Given the description of an element on the screen output the (x, y) to click on. 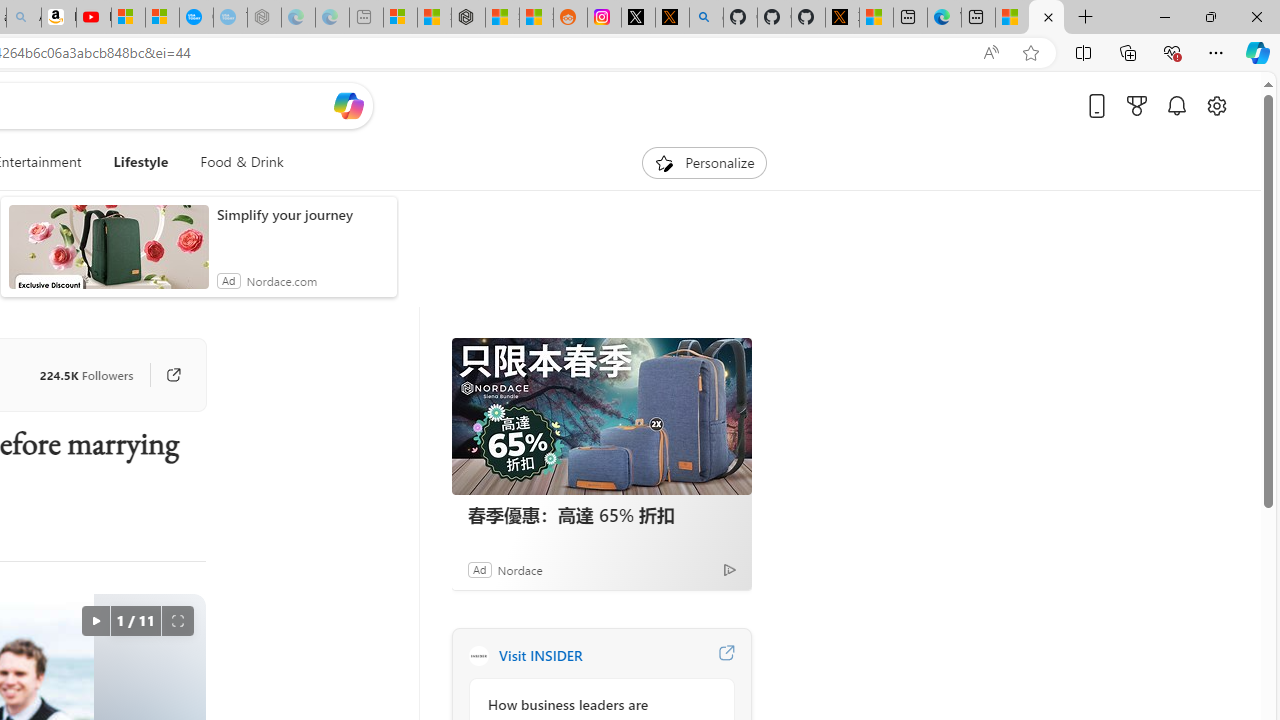
Go to publisher's site (163, 374)
INSIDER (478, 655)
Shanghai, China Weather trends | Microsoft Weather (535, 17)
Microsoft account | Microsoft Account Privacy Settings (400, 17)
Lifestyle (141, 162)
Nordace - Nordace has arrived Hong Kong - Sleeping (264, 17)
Simplify your journey (302, 214)
Food & Drink (241, 162)
